Given the description of an element on the screen output the (x, y) to click on. 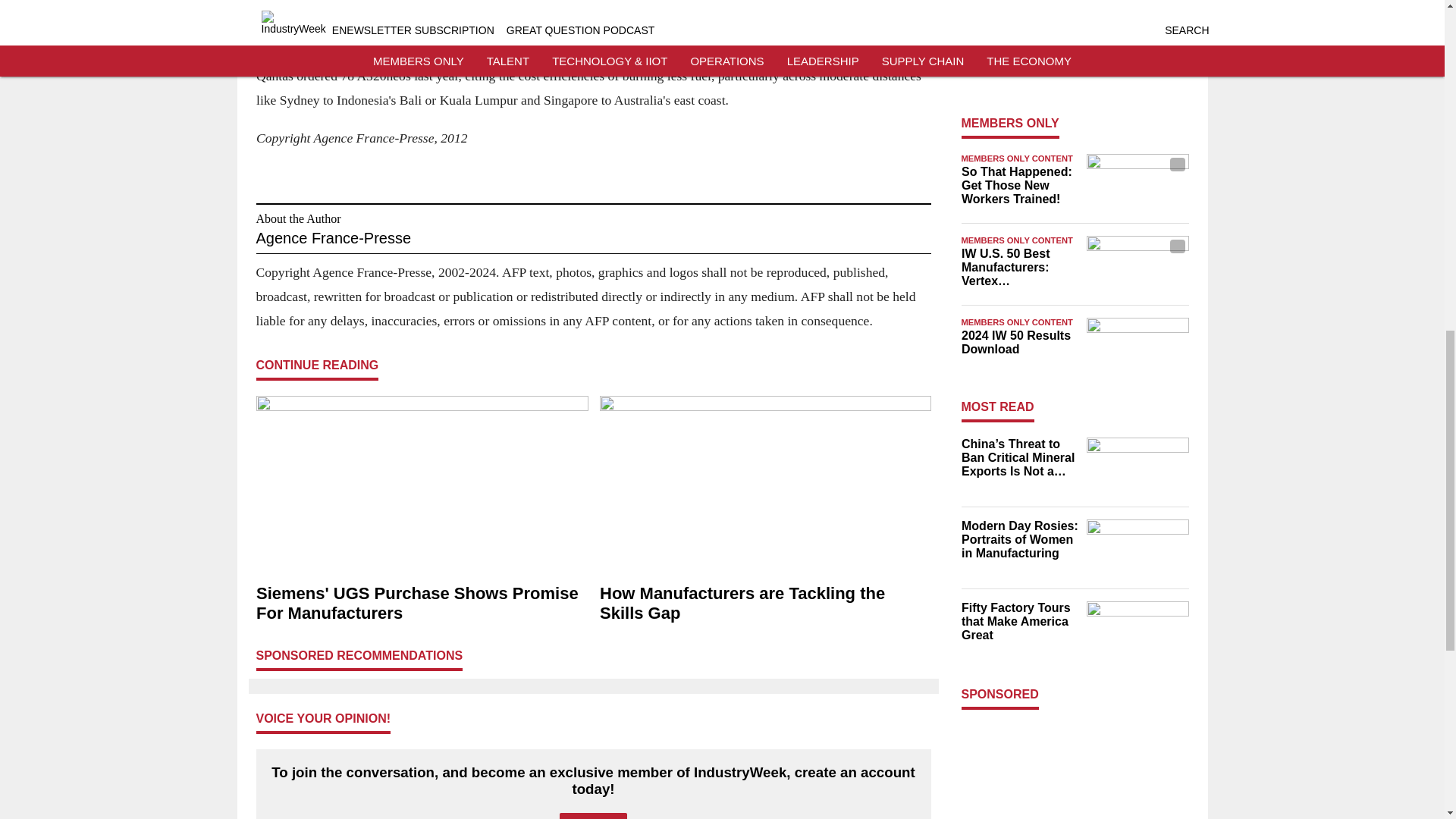
How Manufacturers are Tackling the Skills Gap (764, 603)
see story (847, 38)
MEMBERS ONLY (1009, 123)
Join today! (593, 816)
Industry 4.0 Gains Are Ahead of the Tools to Measure Them (1019, 54)
So That Happened: Get Those New Workers Trained! (1019, 185)
Siemens' UGS Purchase Shows Promise For Manufacturers (422, 603)
